Given the description of an element on the screen output the (x, y) to click on. 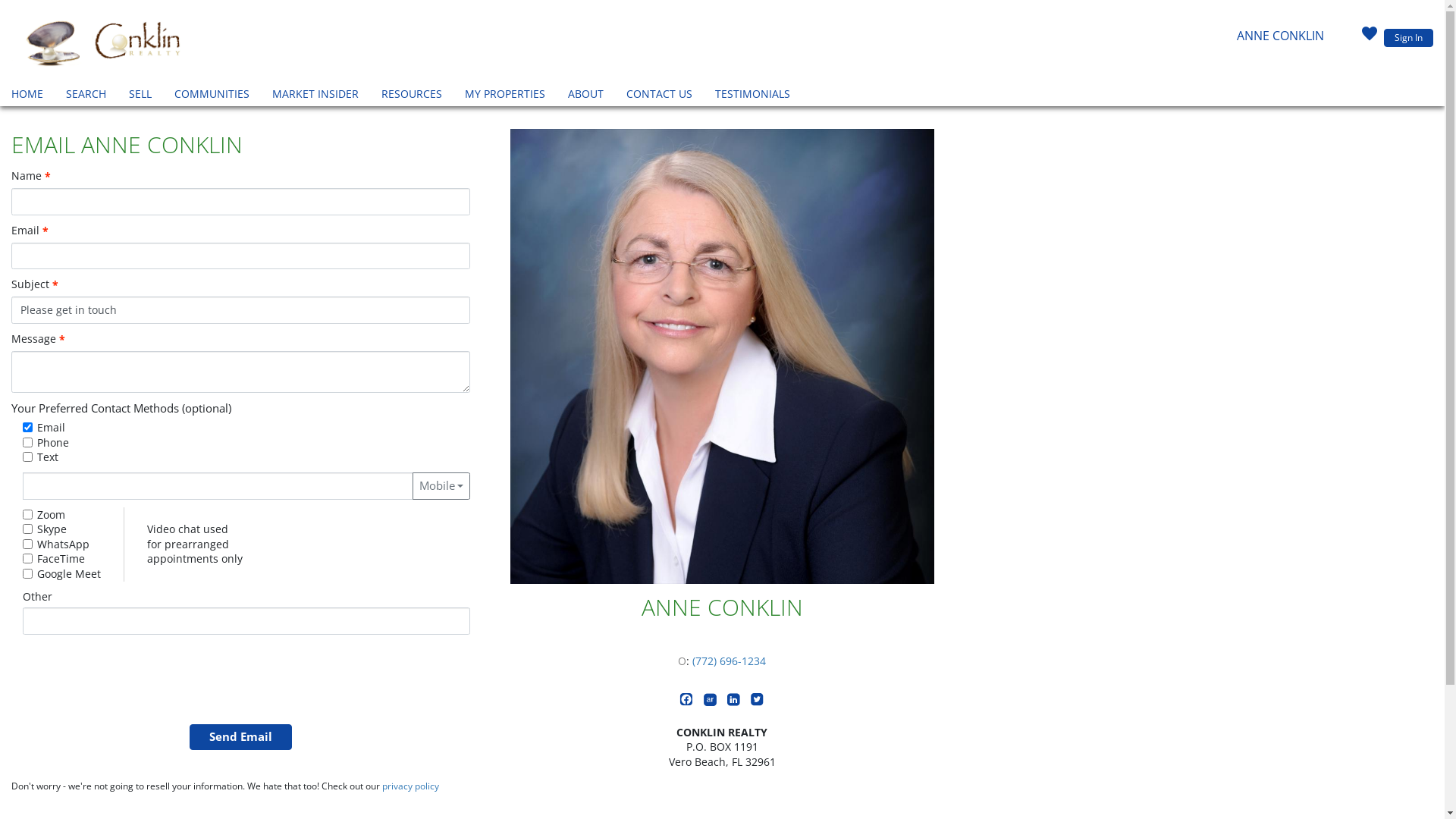
Sign In Element type: text (1408, 37)
Mobile Element type: text (441, 485)
SELL Element type: text (140, 95)
CONTACT US Element type: text (659, 95)
Twitter Element type: hover (756, 701)
ABOUT Element type: text (585, 95)
Facebook Element type: hover (687, 701)
(772) 696-1234 Element type: text (728, 660)
MARKET INSIDER Element type: text (315, 95)
RESOURCES Element type: text (411, 95)
COMMUNITIES Element type: text (211, 95)
HOME Element type: text (27, 95)
LinkedIn Element type: hover (734, 701)
MY PROPERTIES Element type: text (505, 95)
ActiveRain Element type: hover (711, 701)
TESTIMONIALS Element type: text (752, 95)
SEARCH Element type: text (85, 95)
privacy policy Element type: text (410, 785)
Click here to sign in Element type: hover (1369, 37)
Send Email Element type: text (240, 736)
